Given the description of an element on the screen output the (x, y) to click on. 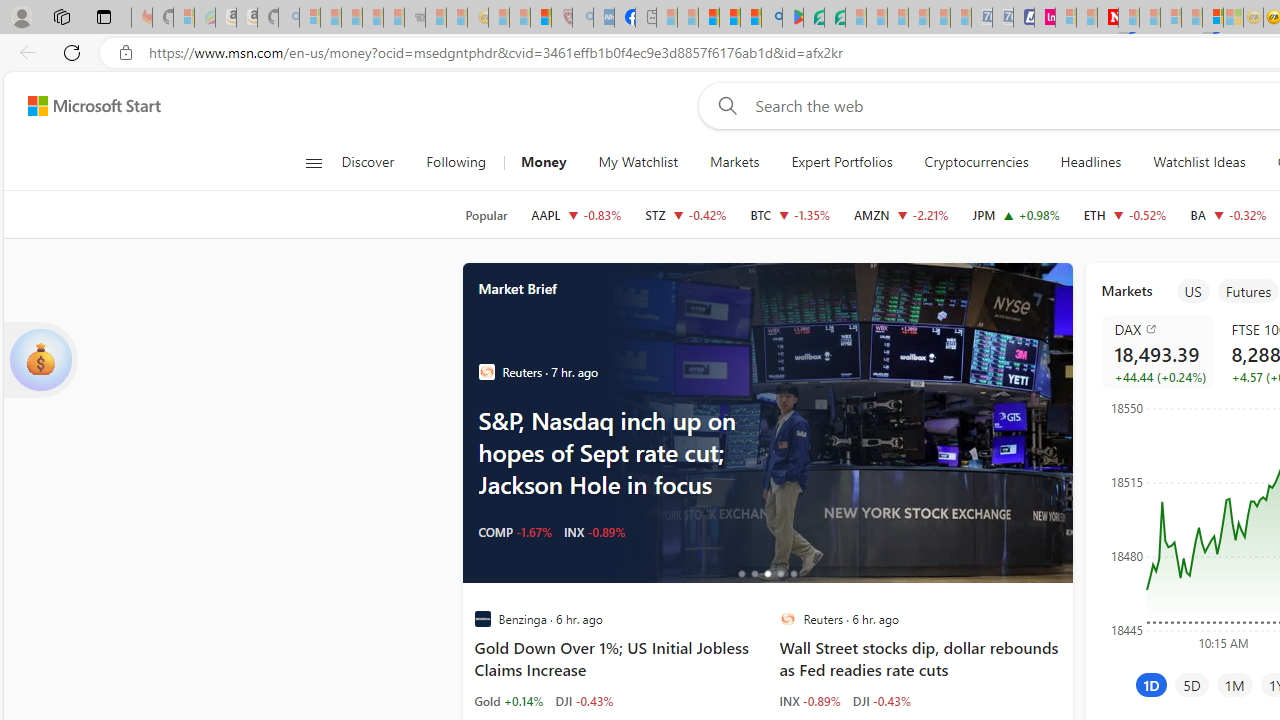
Bluey: Let's Play! - Apps on Google Play (792, 17)
Oil edges higher after back-to-back weekly gains (838, 422)
New Report Confirms 2023 Was Record Hot | Watch - Sleeping (394, 17)
The Weather Channel - MSN - Sleeping (351, 17)
Open navigation menu (313, 162)
item1 (1192, 291)
